Given the description of an element on the screen output the (x, y) to click on. 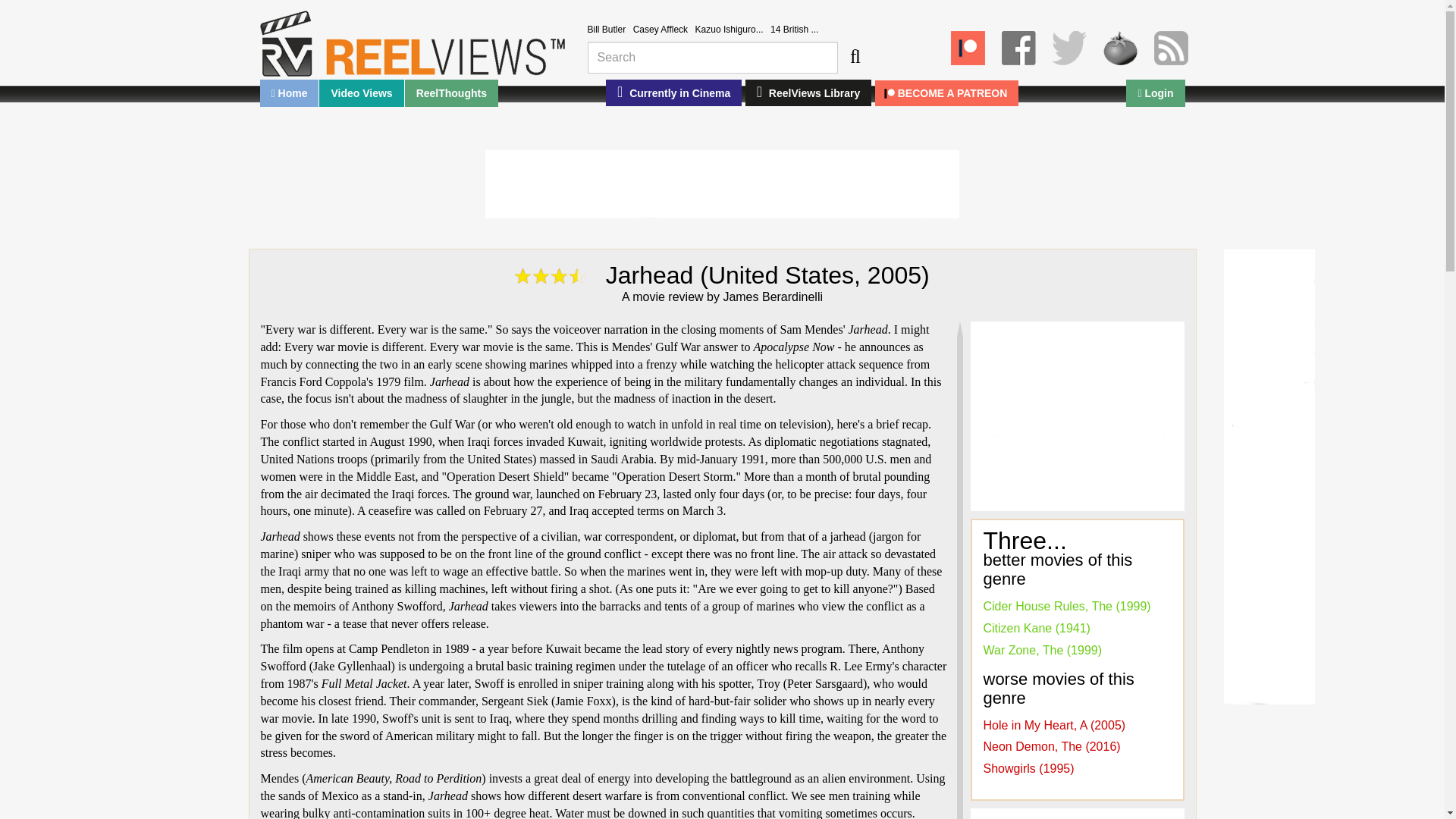
ReelViews Library (808, 92)
Login (1155, 93)
Looking for Casey Affleck? (660, 29)
Casey Affleck (660, 29)
Looking for 14 British ...? (794, 29)
Login (1155, 93)
Bill Butler (606, 29)
Currently in Cinema (673, 92)
Home (288, 93)
BECOME A PATREON (947, 93)
